Given the description of an element on the screen output the (x, y) to click on. 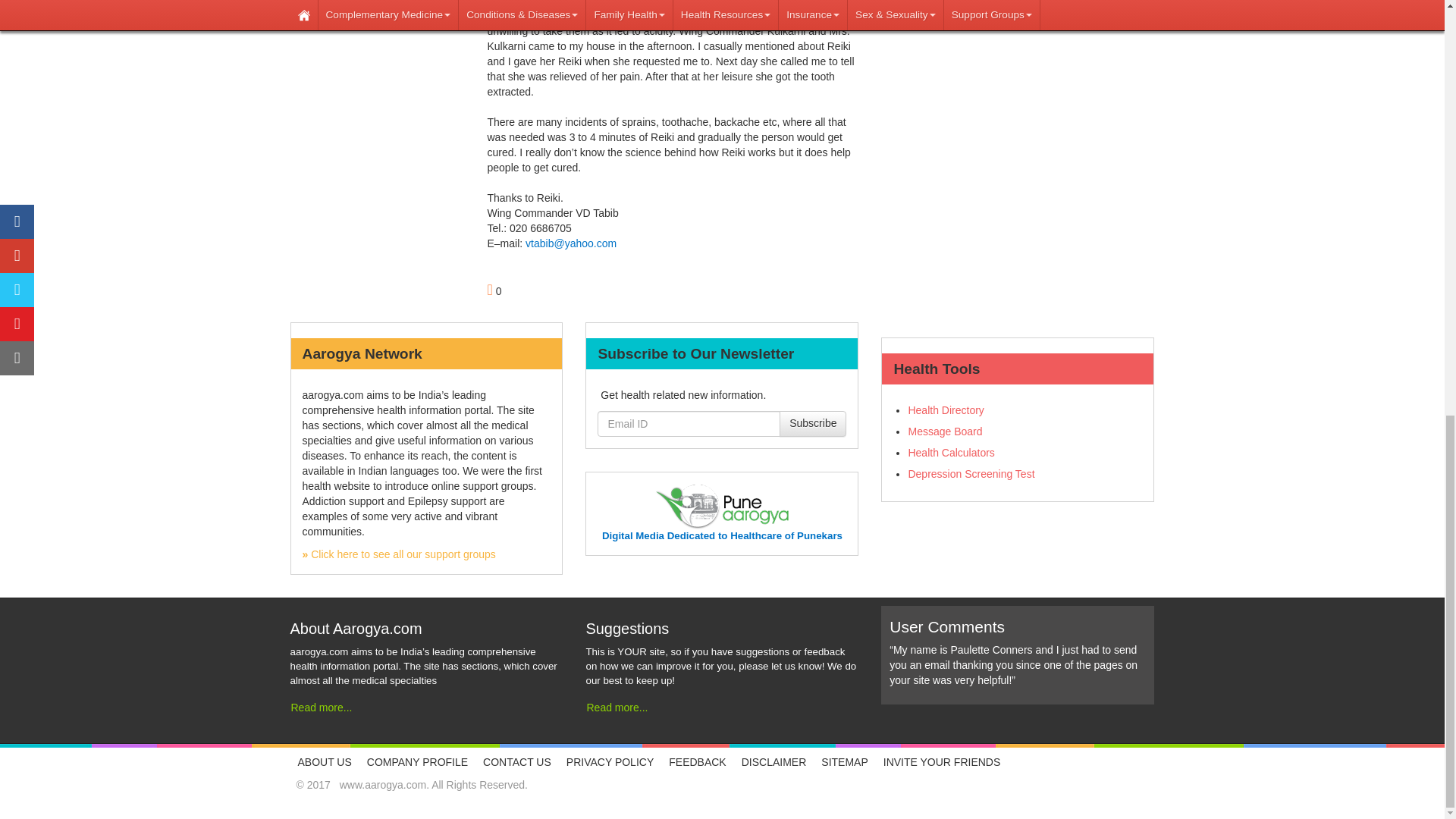
Pune Aarogya (722, 505)
Advertisement (1017, 36)
Aarogya Network (398, 553)
Pune Aarogya (722, 535)
